Given the description of an element on the screen output the (x, y) to click on. 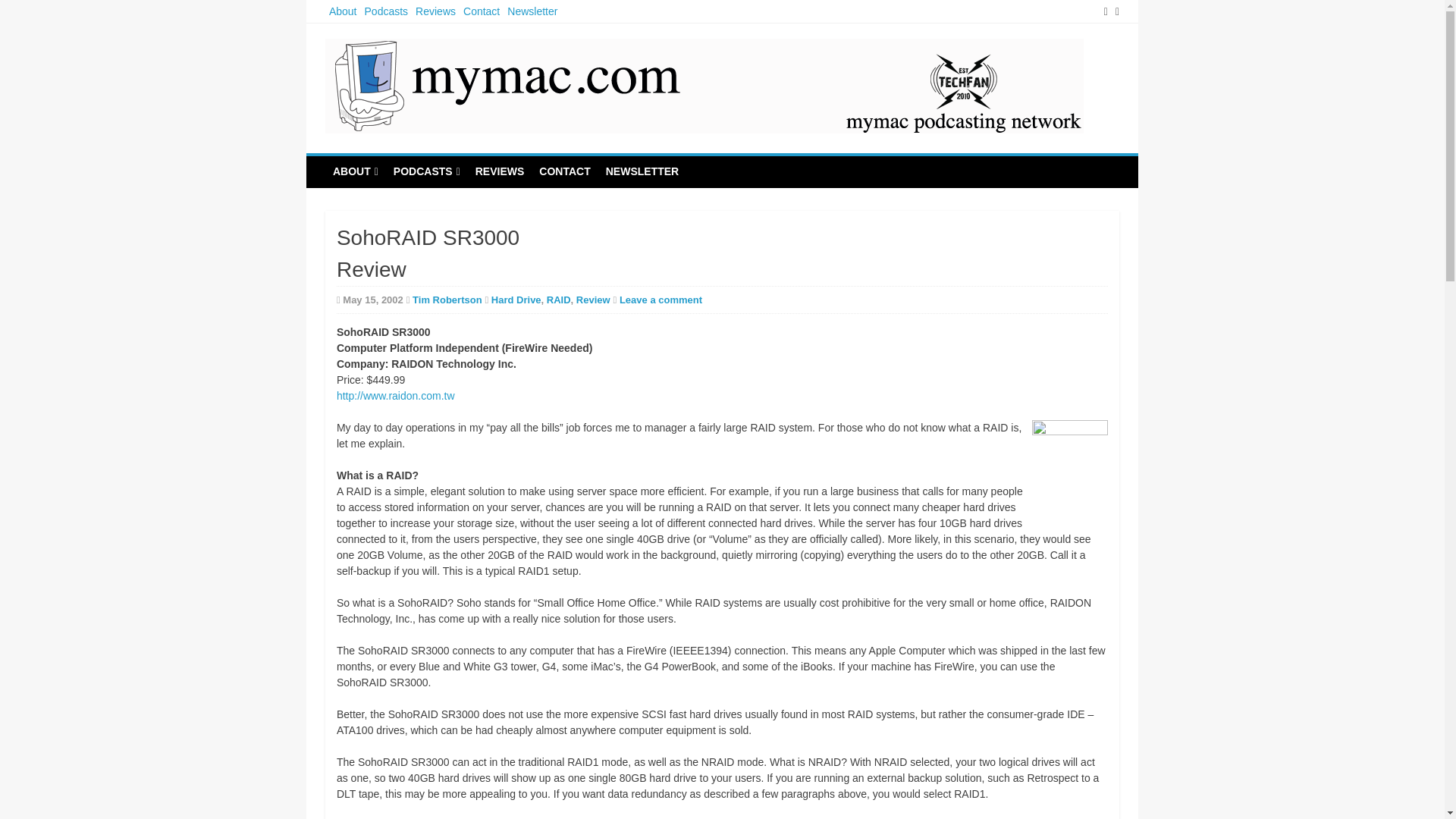
Review (593, 299)
Tim Robertson (446, 299)
Leave a comment (660, 299)
RAID (558, 299)
Newsletter (531, 11)
CONTACT (563, 171)
REVIEWS (499, 171)
PODCASTS (426, 172)
Hard Drive (516, 299)
MyMac.com (389, 149)
